Given the description of an element on the screen output the (x, y) to click on. 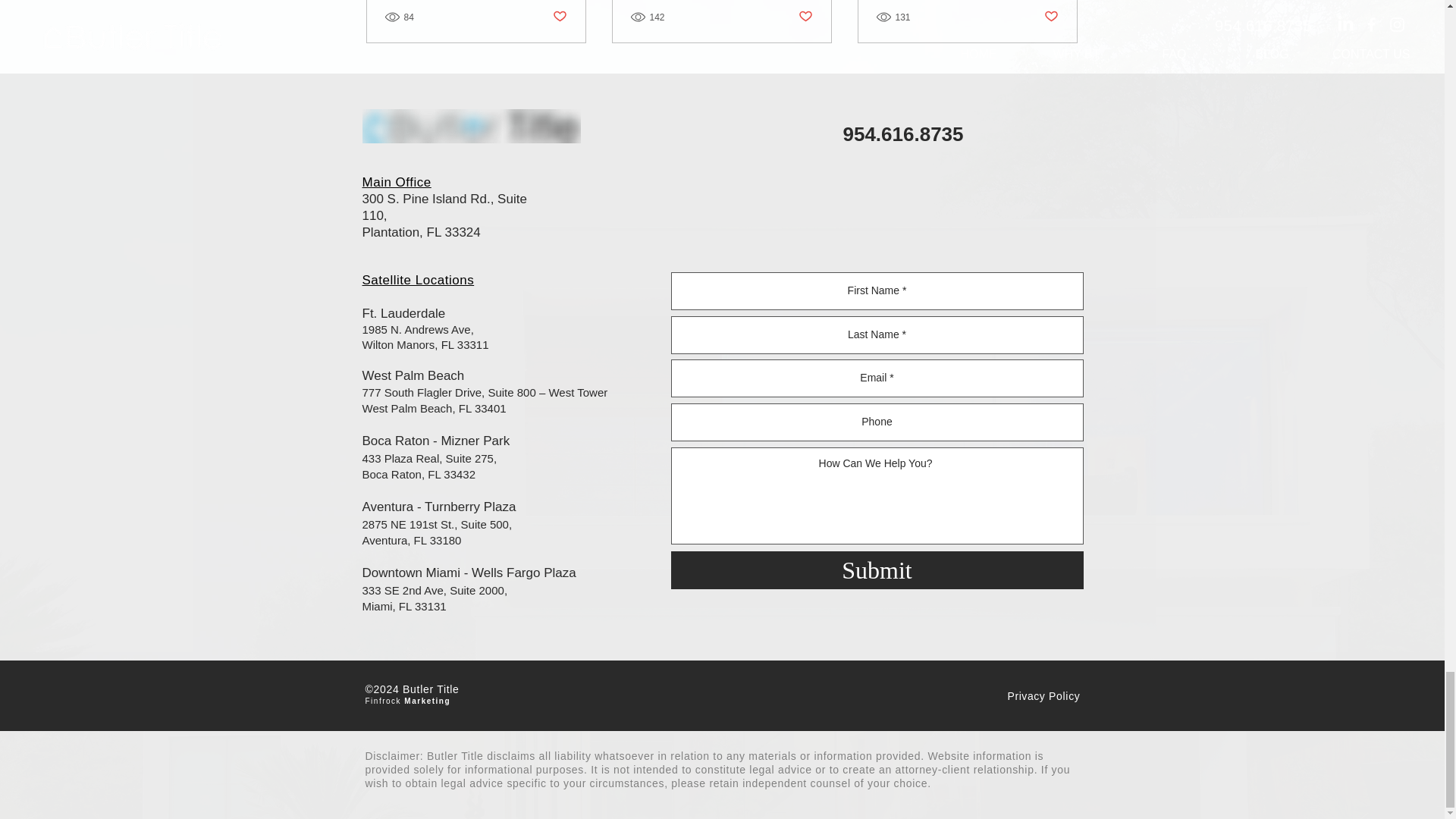
954.616.8735 (903, 134)
Post not marked as liked (558, 17)
Post not marked as liked (1050, 17)
Post not marked as liked (804, 17)
